Given the description of an element on the screen output the (x, y) to click on. 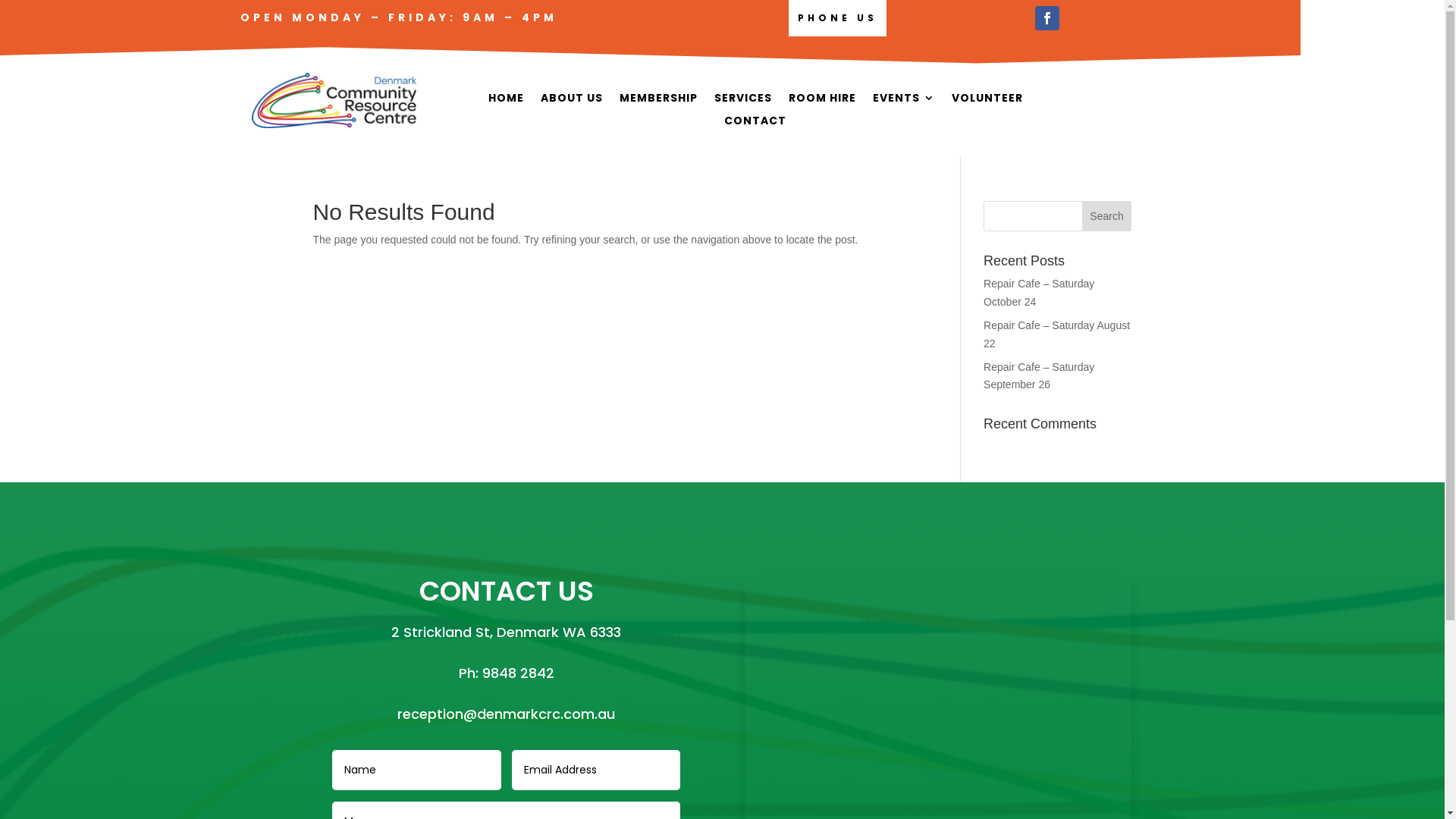
ABOUT US Element type: text (571, 100)
Search Element type: text (1107, 215)
VOLUNTEER Element type: text (986, 100)
ROOM HIRE Element type: text (822, 100)
MEMBERSHIP Element type: text (658, 100)
HOME Element type: text (506, 100)
Follow on Facebook Element type: hover (1047, 18)
DENMARK_CRC_logo_CMYK-1 Element type: hover (333, 100)
PHONE US Element type: text (837, 18)
SERVICES Element type: text (742, 100)
CONTACT Element type: text (755, 123)
reception@denmarkcrc.com.au Element type: text (506, 713)
EVENTS Element type: text (903, 100)
9848 2842 Element type: text (518, 672)
